Given the description of an element on the screen output the (x, y) to click on. 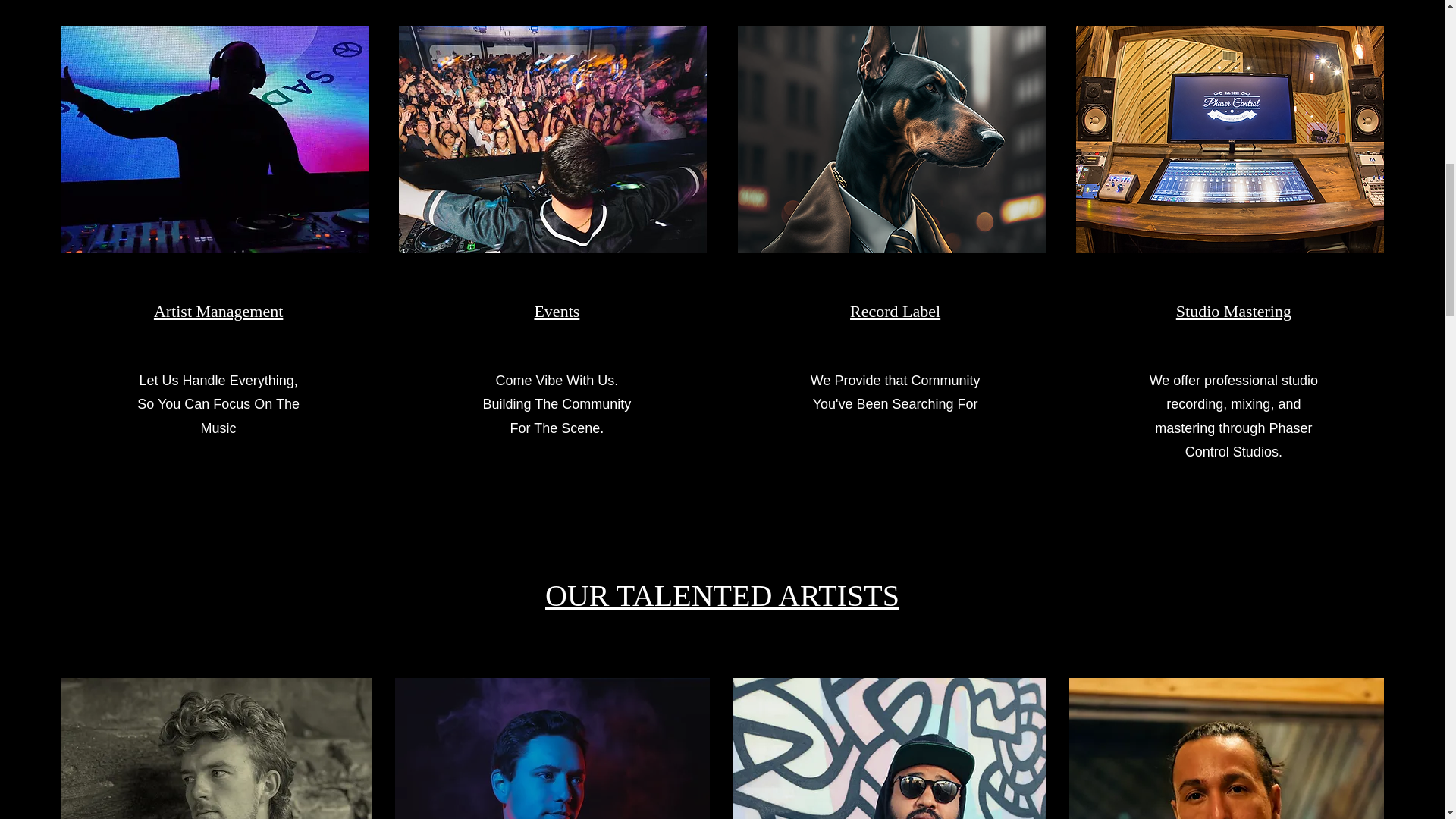
Studio Mastering (1233, 311)
OUR TALENTED ARTISTS (721, 594)
Artist Management (218, 311)
Record Label (895, 311)
Events (556, 311)
